Given the description of an element on the screen output the (x, y) to click on. 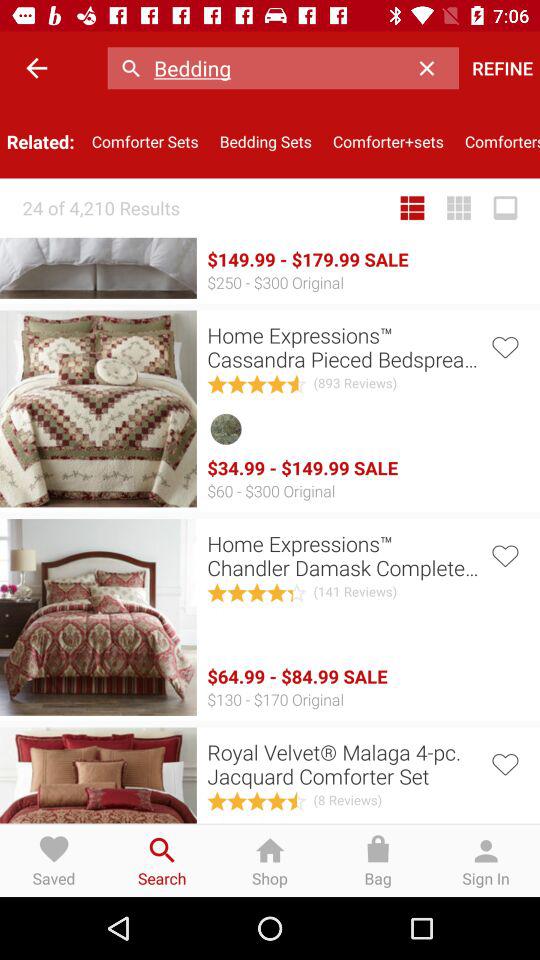
favorite this item (504, 345)
